Given the description of an element on the screen output the (x, y) to click on. 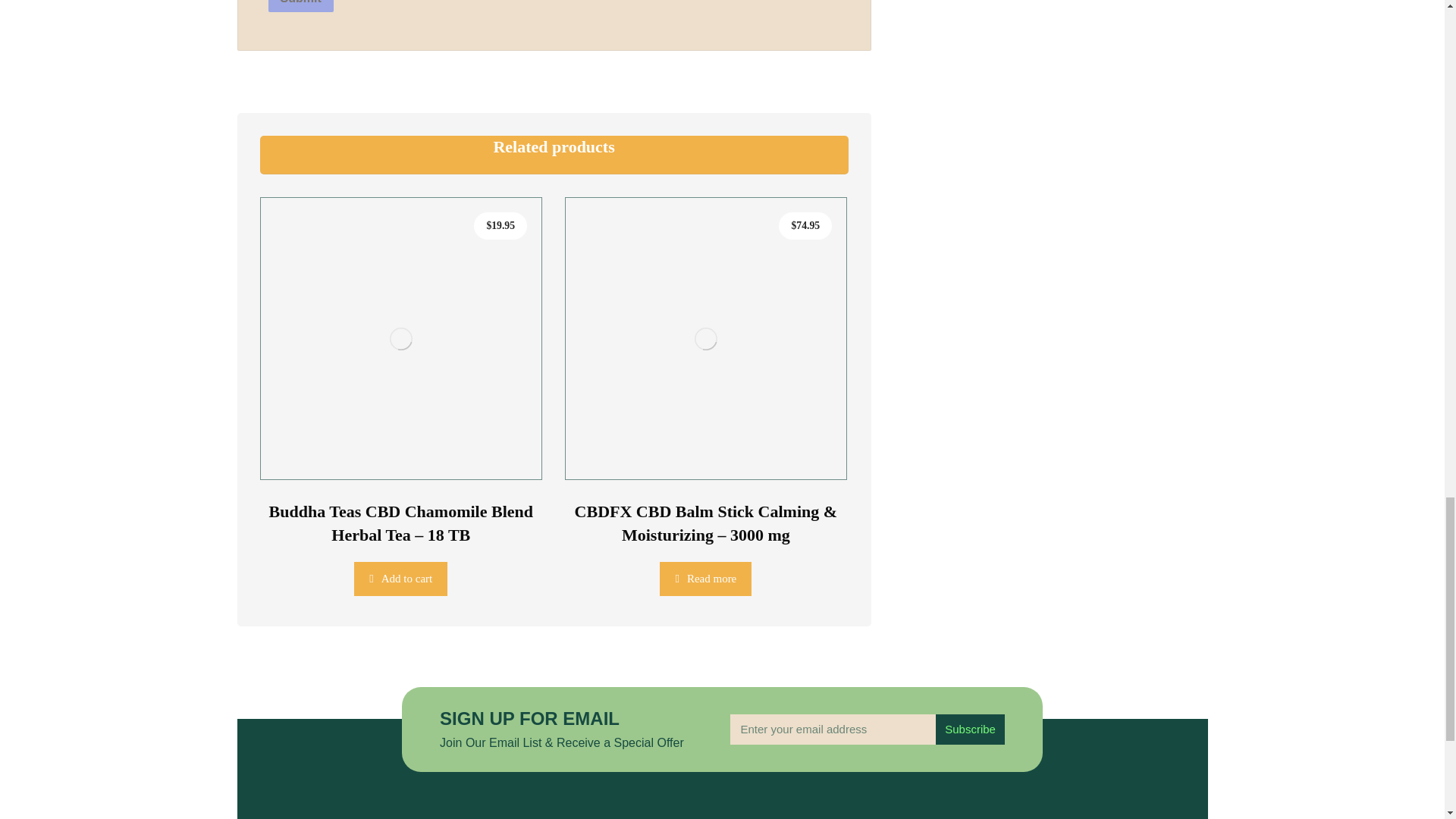
Read more (705, 578)
Add to cart (399, 578)
Submit (300, 6)
Subscribe (970, 729)
Submit (300, 6)
